Given the description of an element on the screen output the (x, y) to click on. 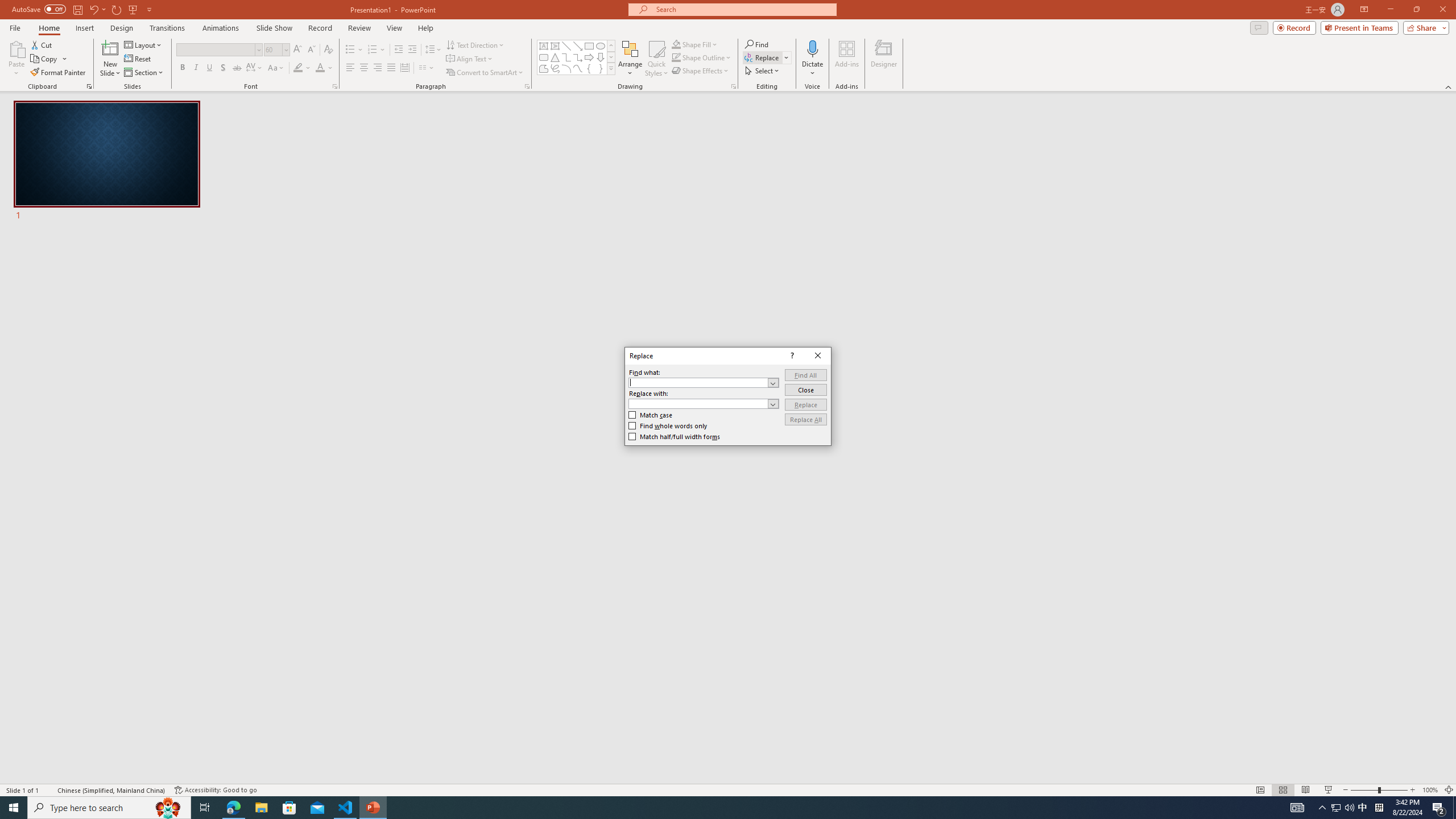
Strikethrough (237, 67)
Text Highlight Color Yellow (297, 67)
Font Color Red (320, 67)
AutomationID: ShapesInsertGallery (576, 57)
Connector: Elbow (566, 57)
Quick Styles (656, 58)
Shape Outline Blue, Accent 1 (675, 56)
